Given the description of an element on the screen output the (x, y) to click on. 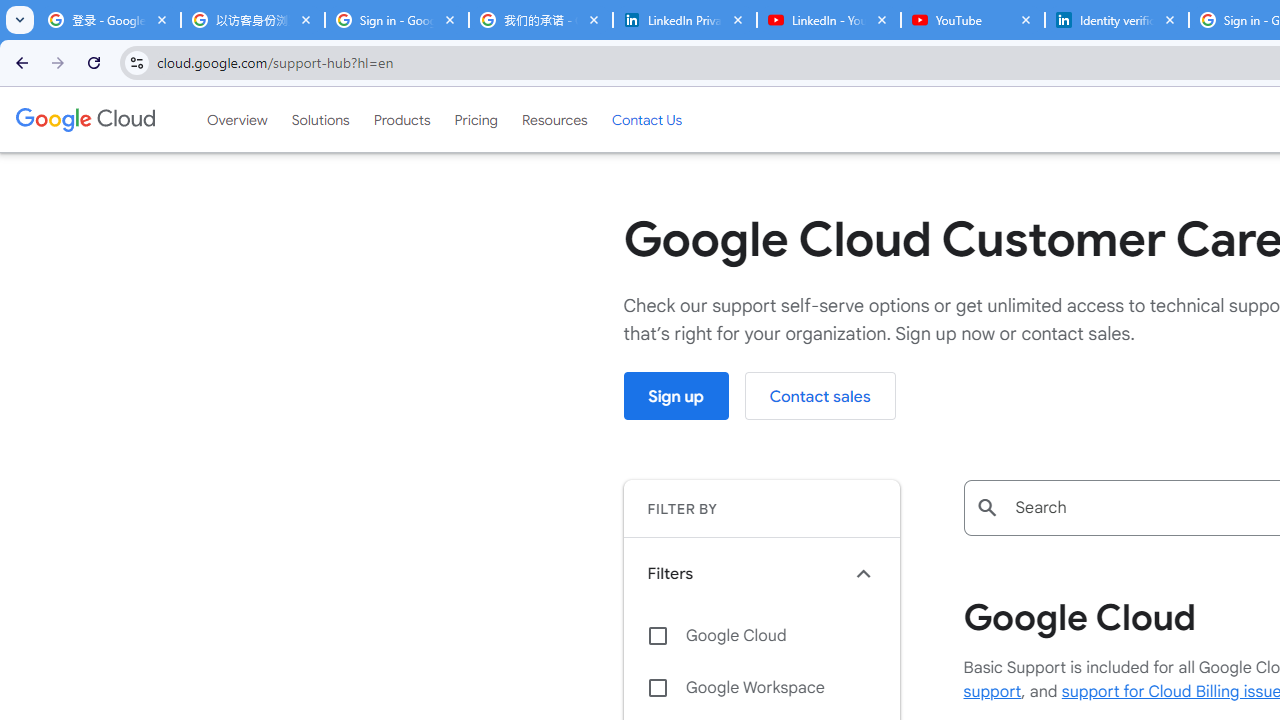
Contact Us (646, 119)
Products (401, 119)
Solutions (320, 119)
Pricing (476, 119)
Google Workspace (761, 687)
YouTube (972, 20)
Sign in - Google Accounts (396, 20)
LinkedIn - YouTube (828, 20)
